Given the description of an element on the screen output the (x, y) to click on. 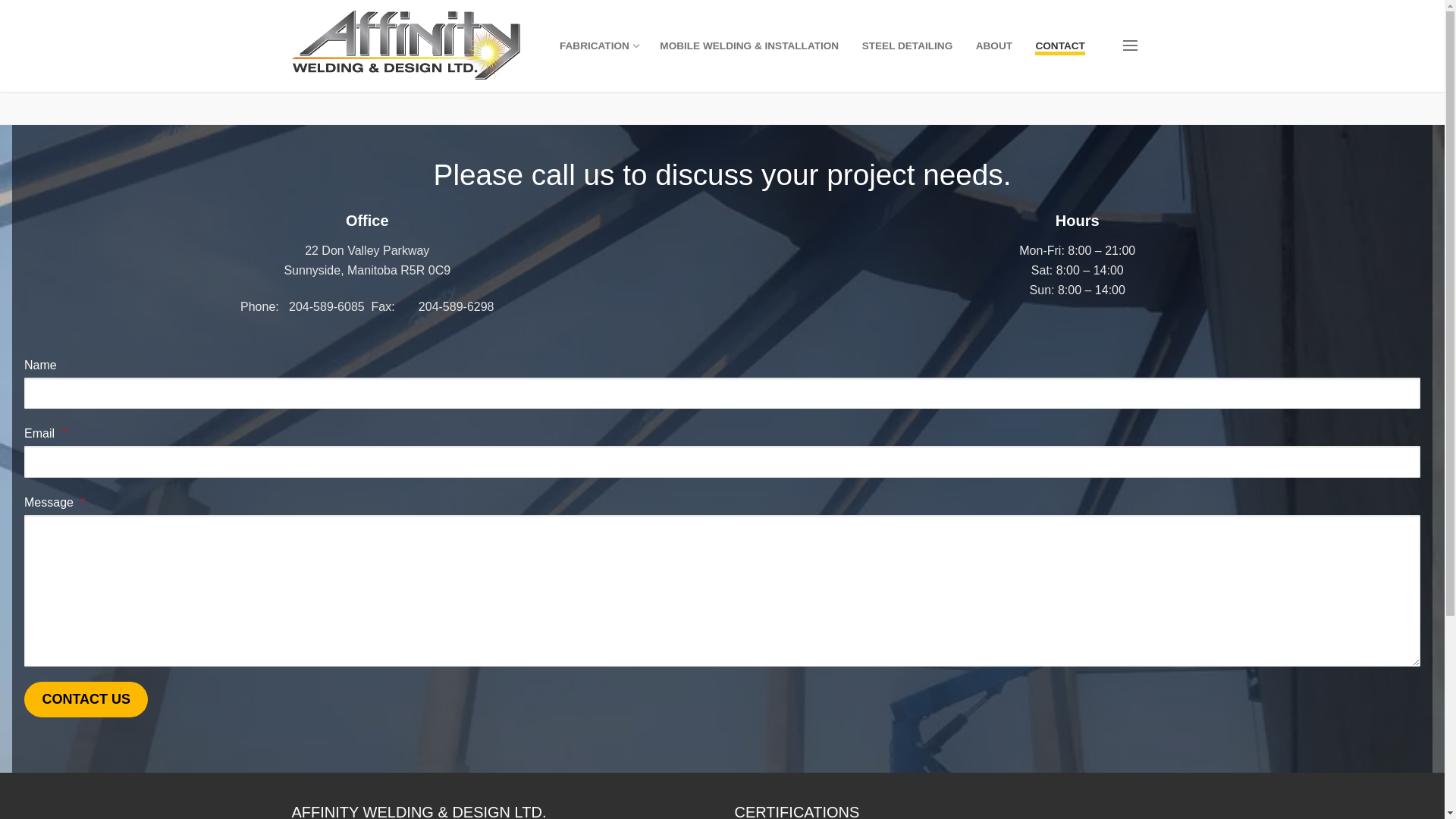
CONTACT US Element type: text (85, 699)
ABOUT Element type: text (994, 45)
MOBILE WELDING & INSTALLATION Element type: text (748, 45)
STEEL DETAILING Element type: text (907, 45)
CONTACT Element type: text (1059, 45)
FABRICATION
  Element type: text (597, 45)
